Given the description of an element on the screen output the (x, y) to click on. 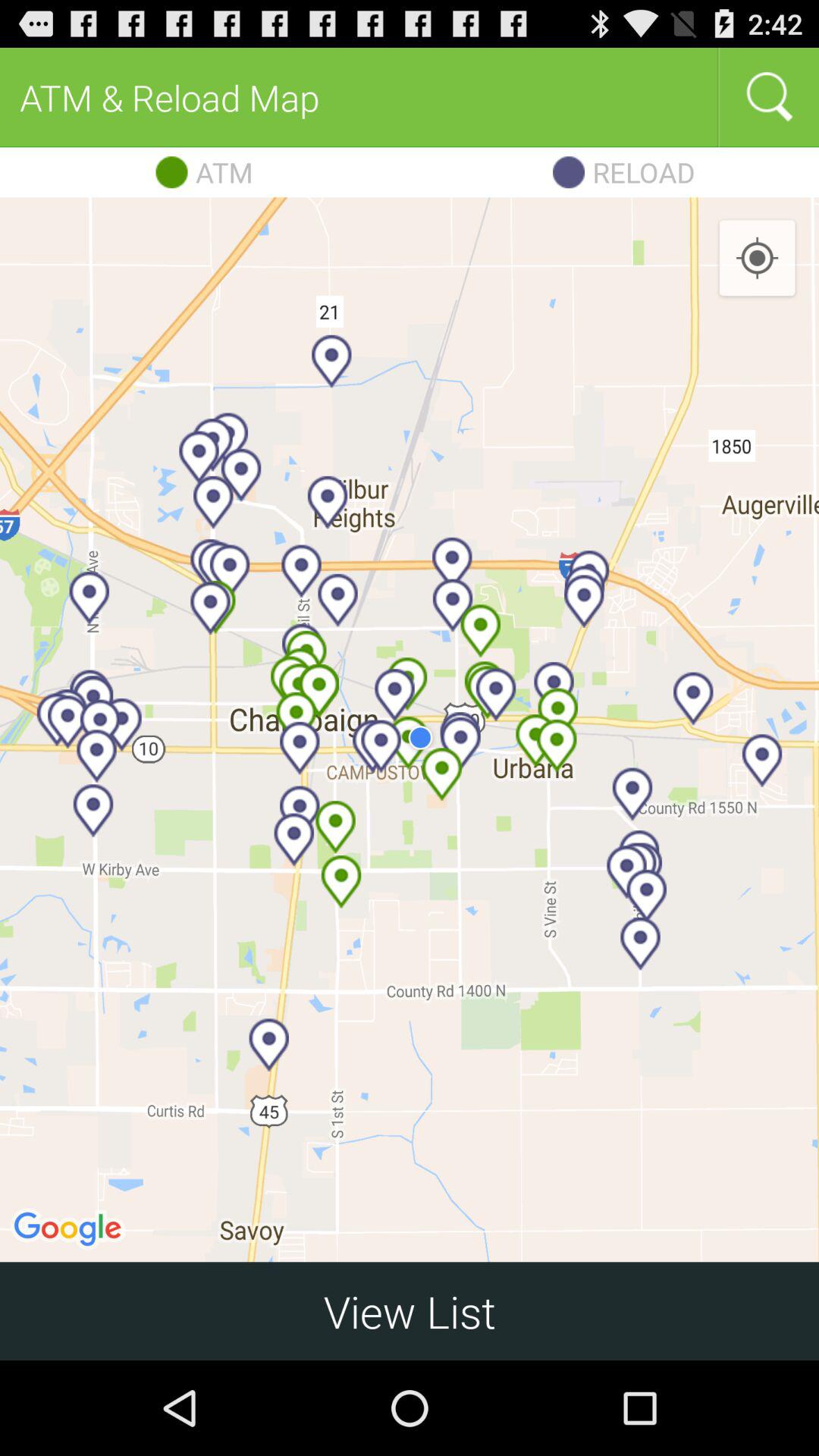
open the icon at the center (409, 729)
